Given the description of an element on the screen output the (x, y) to click on. 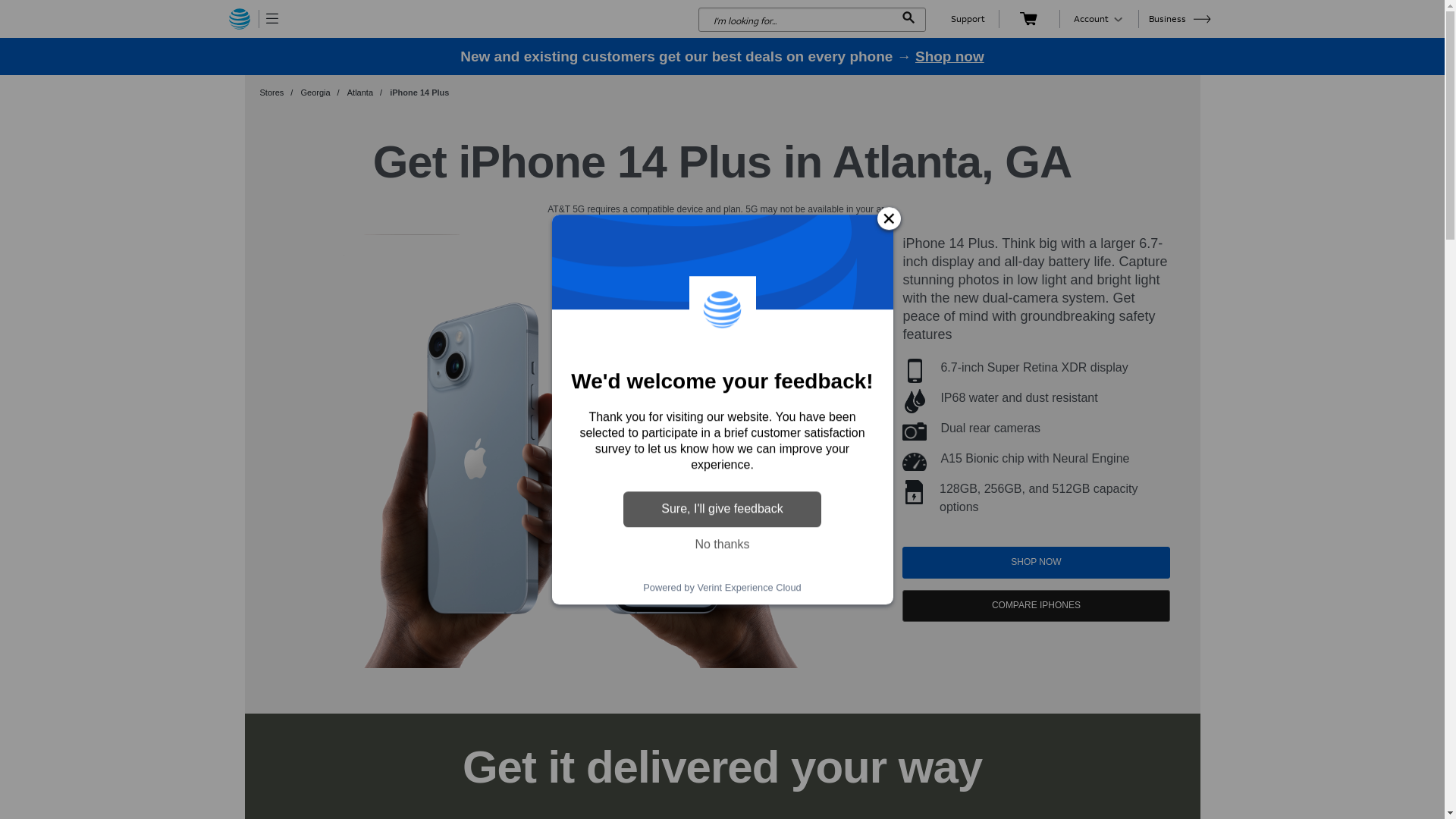
Business (1180, 18)
Support (967, 18)
Cart (1029, 18)
cart ATT empty cart icon svg image (1029, 18)
Search (908, 20)
Menu (273, 18)
Account (1099, 18)
search (810, 19)
